Given the description of an element on the screen output the (x, y) to click on. 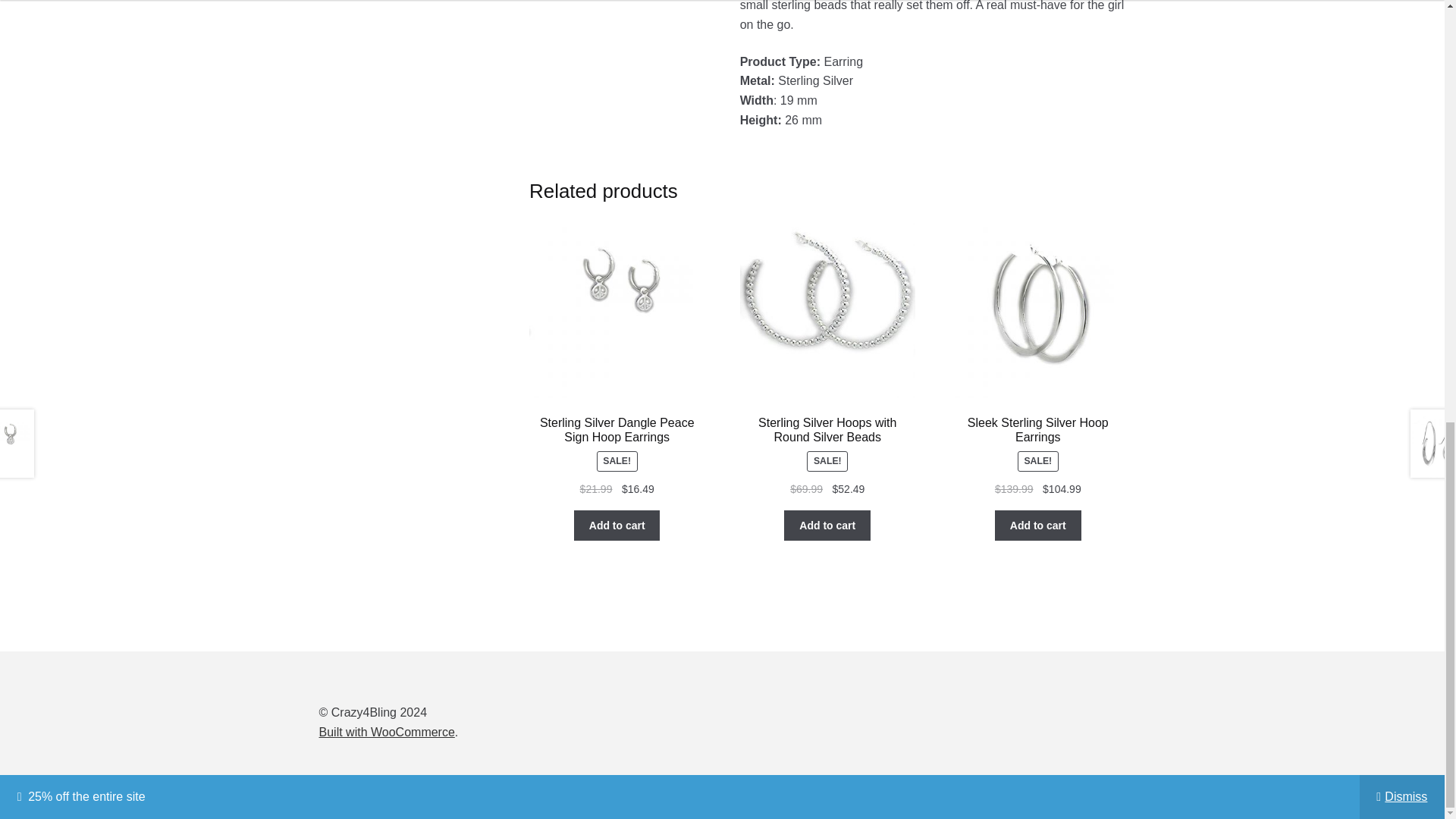
WooCommerce - The Best eCommerce Platform for WordPress (386, 731)
